Given the description of an element on the screen output the (x, y) to click on. 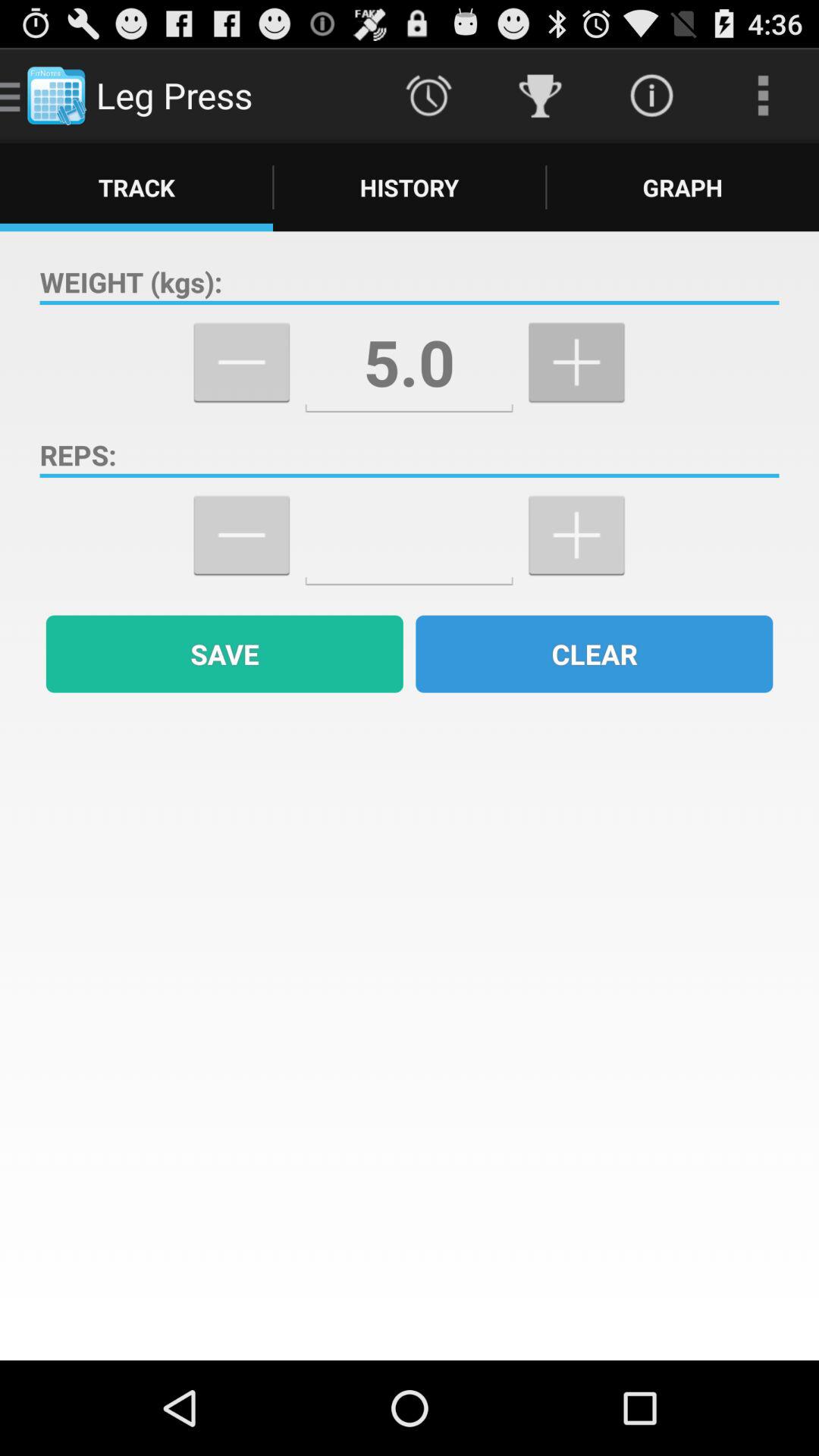
insert number of reps (408, 535)
